Given the description of an element on the screen output the (x, y) to click on. 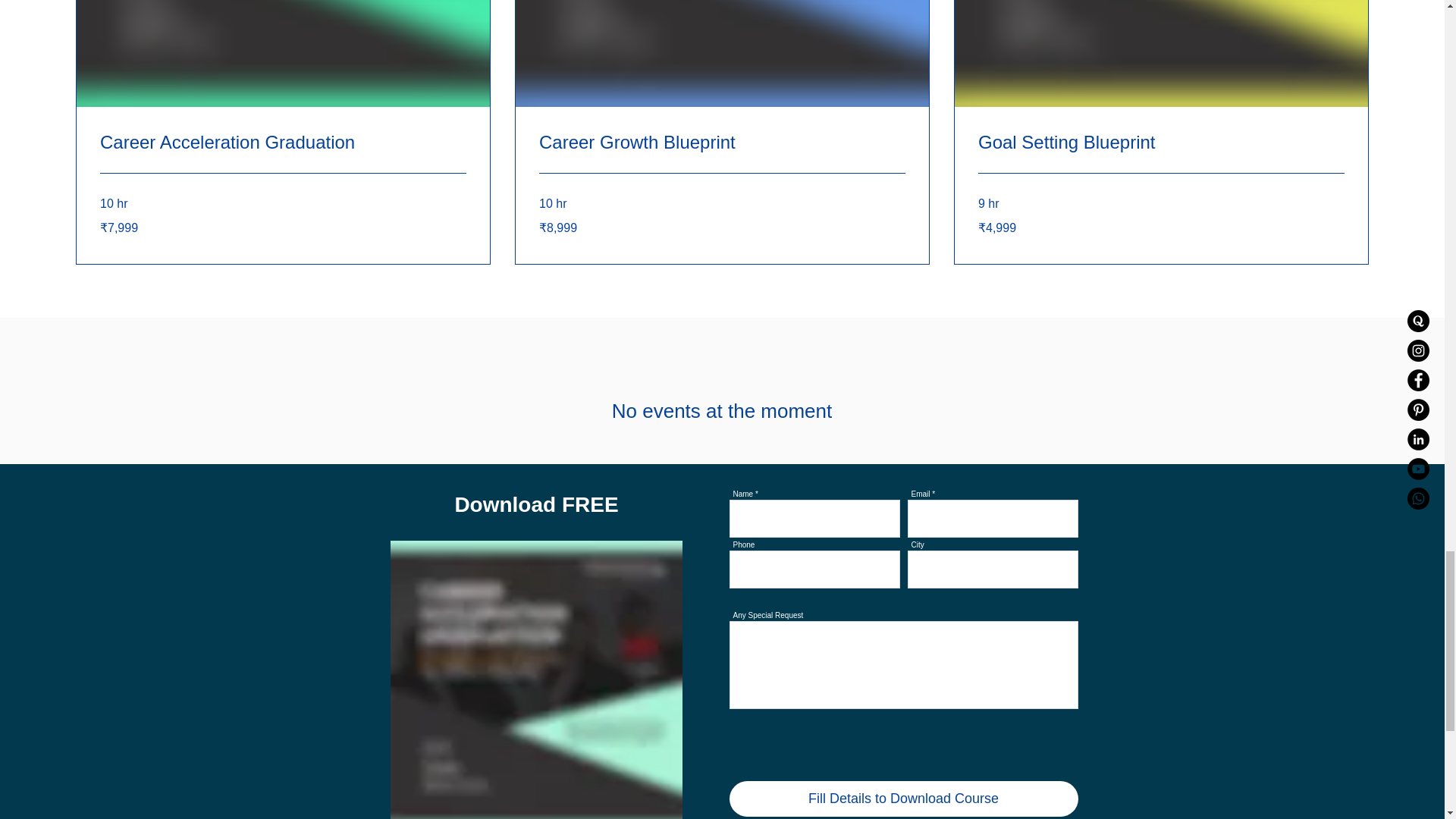
Career Acceleration Graduation (282, 142)
Career Growth Blueprint (721, 142)
Fill Details to Download Course (903, 798)
Goal Setting Blueprint (1160, 142)
